Given the description of an element on the screen output the (x, y) to click on. 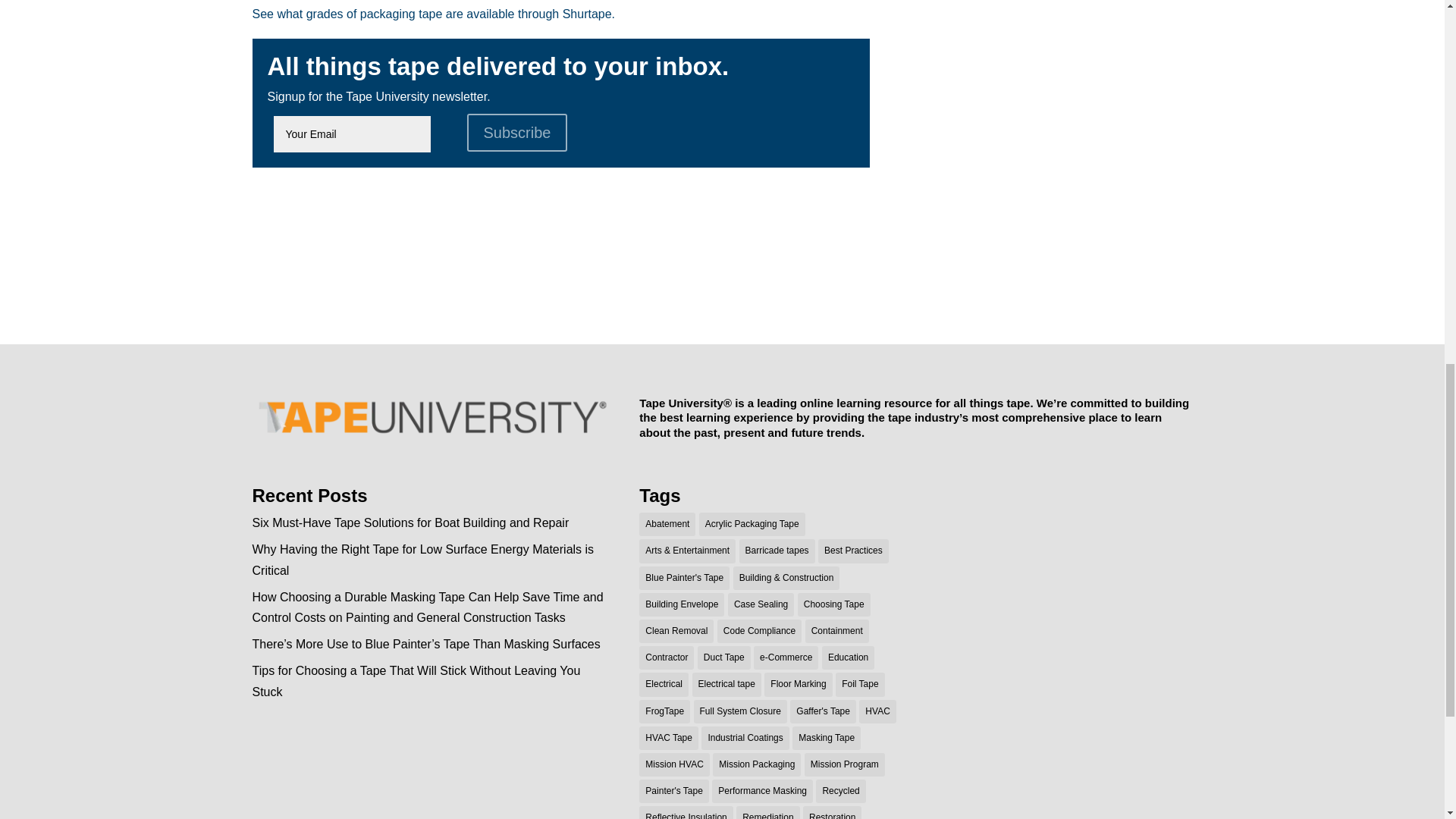
Subscribe (517, 132)
TapeULogo-500x60 (431, 416)
Subscribe (517, 132)
